Given the description of an element on the screen output the (x, y) to click on. 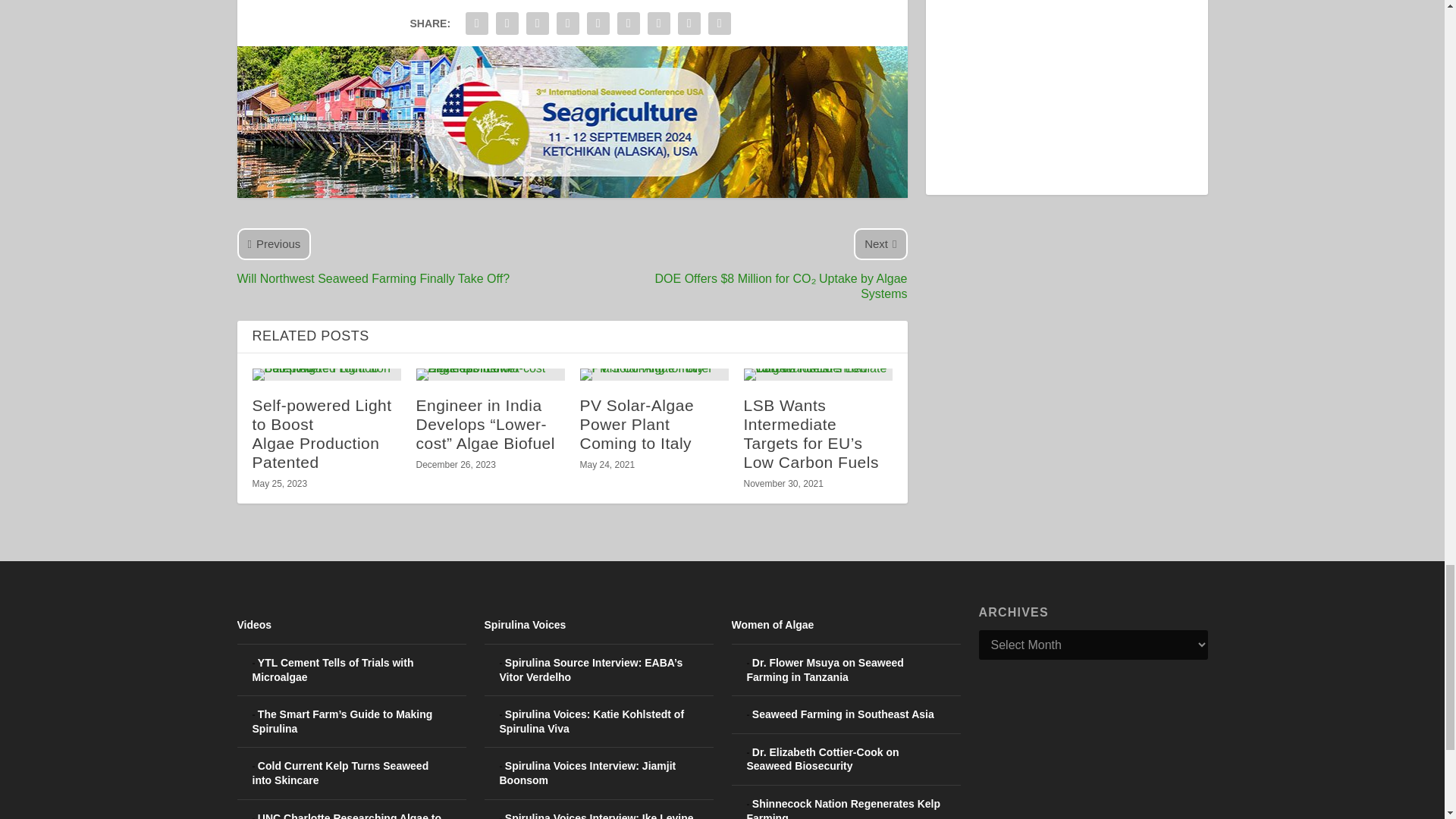
PV Solar-Algae Power Plant Coming to Italy (653, 374)
